Given the description of an element on the screen output the (x, y) to click on. 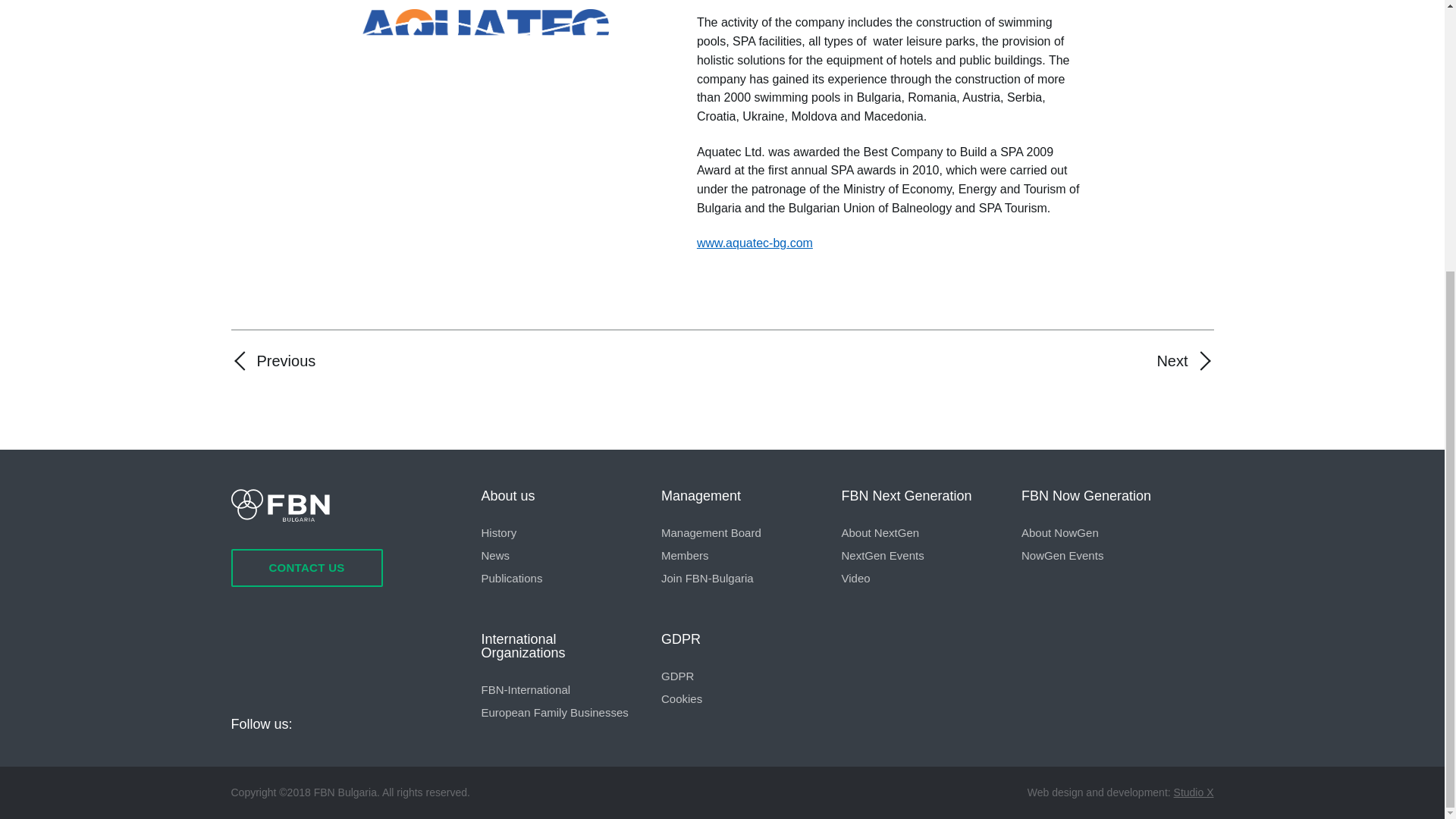
Publications (558, 577)
Management Board (738, 532)
NextGen Events (919, 555)
History (558, 532)
FBN Next Generation (919, 495)
About us (558, 495)
FBN Now Generation (1099, 495)
Previous (272, 360)
Contact Us (305, 567)
Management (738, 495)
CONTACT US (305, 567)
About NextGen (919, 532)
Next (1184, 360)
About NowGen (1099, 532)
Members (738, 555)
